Given the description of an element on the screen output the (x, y) to click on. 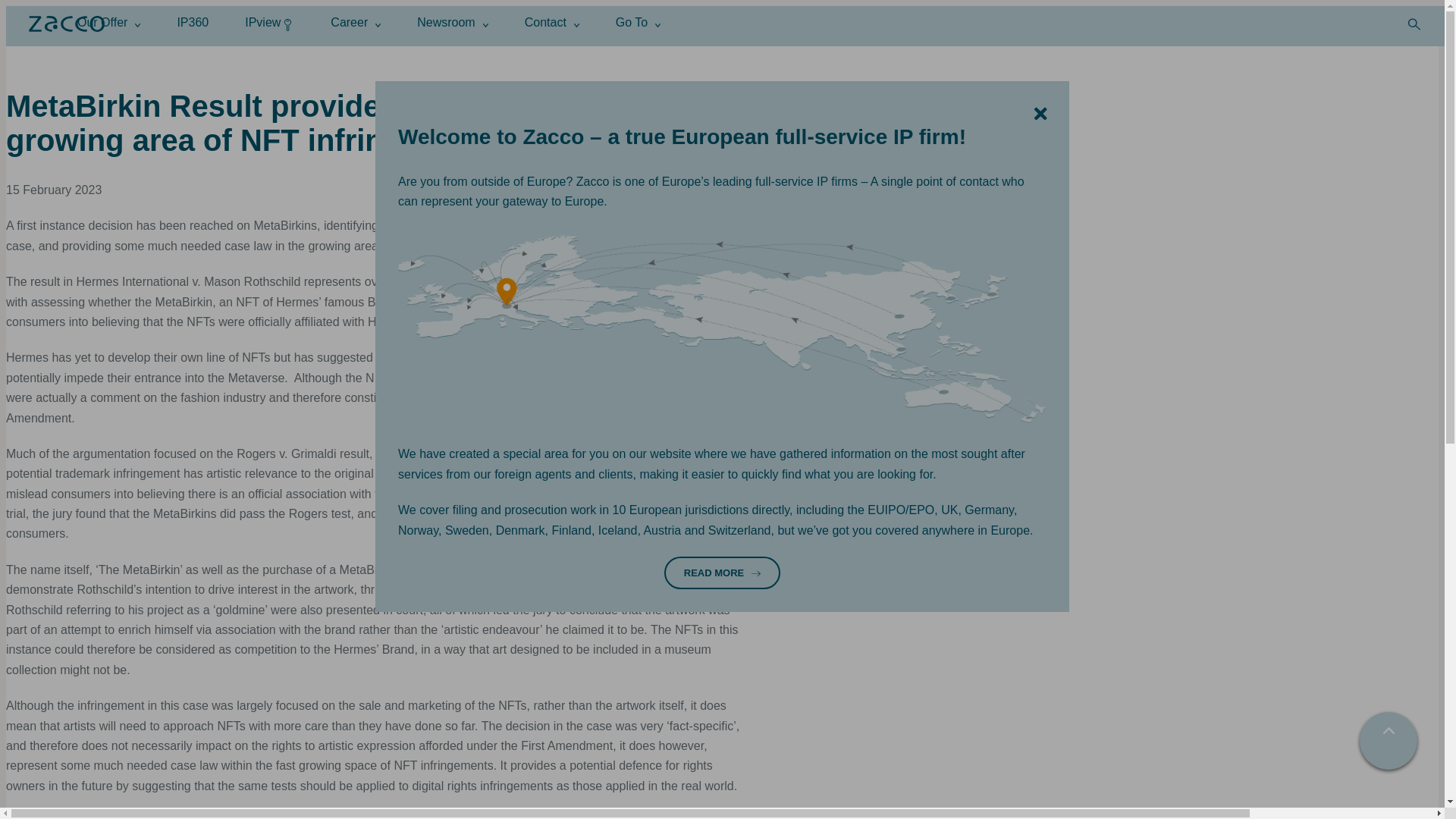
READ MORE (721, 572)
Newsroom (451, 21)
IPview (269, 21)
IP360 (192, 21)
Our Offer (108, 21)
Contact (551, 21)
Go To (638, 21)
Career (355, 21)
